Given the description of an element on the screen output the (x, y) to click on. 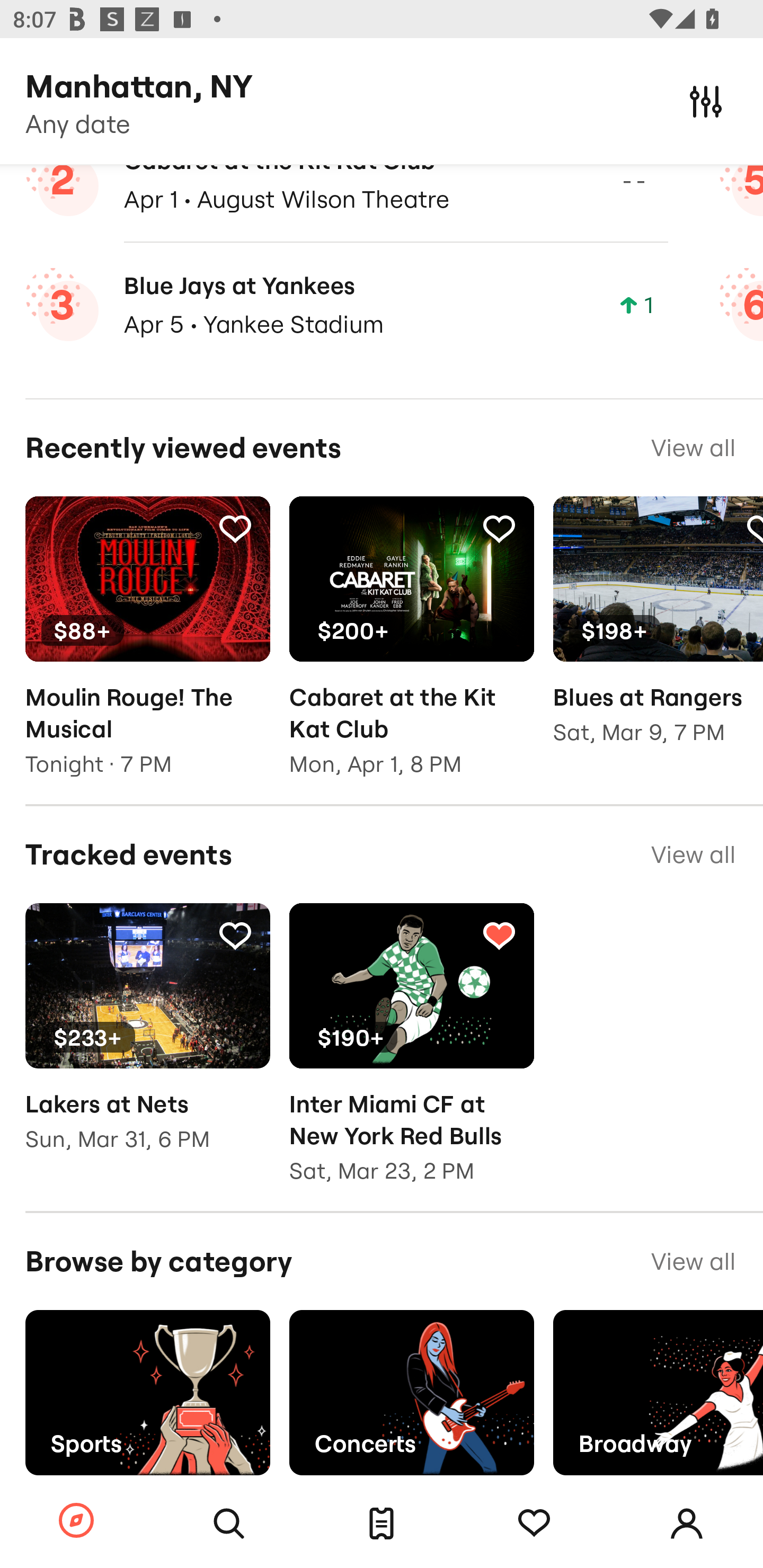
Filters (705, 100)
View all (693, 448)
Tracking $198+ Blues at Rangers Sat, Mar 9, 7 PM (658, 634)
Tracking (234, 528)
Tracking (498, 528)
View all (693, 854)
Tracking $233+ Lakers at Nets Sun, Mar 31, 6 PM (147, 1040)
Tracking (234, 934)
Tracking (498, 934)
View all (693, 1261)
Sports (147, 1392)
Concerts (411, 1392)
Broadway (658, 1392)
Browse (76, 1521)
Search (228, 1523)
Tickets (381, 1523)
Tracking (533, 1523)
Account (686, 1523)
